Given the description of an element on the screen output the (x, y) to click on. 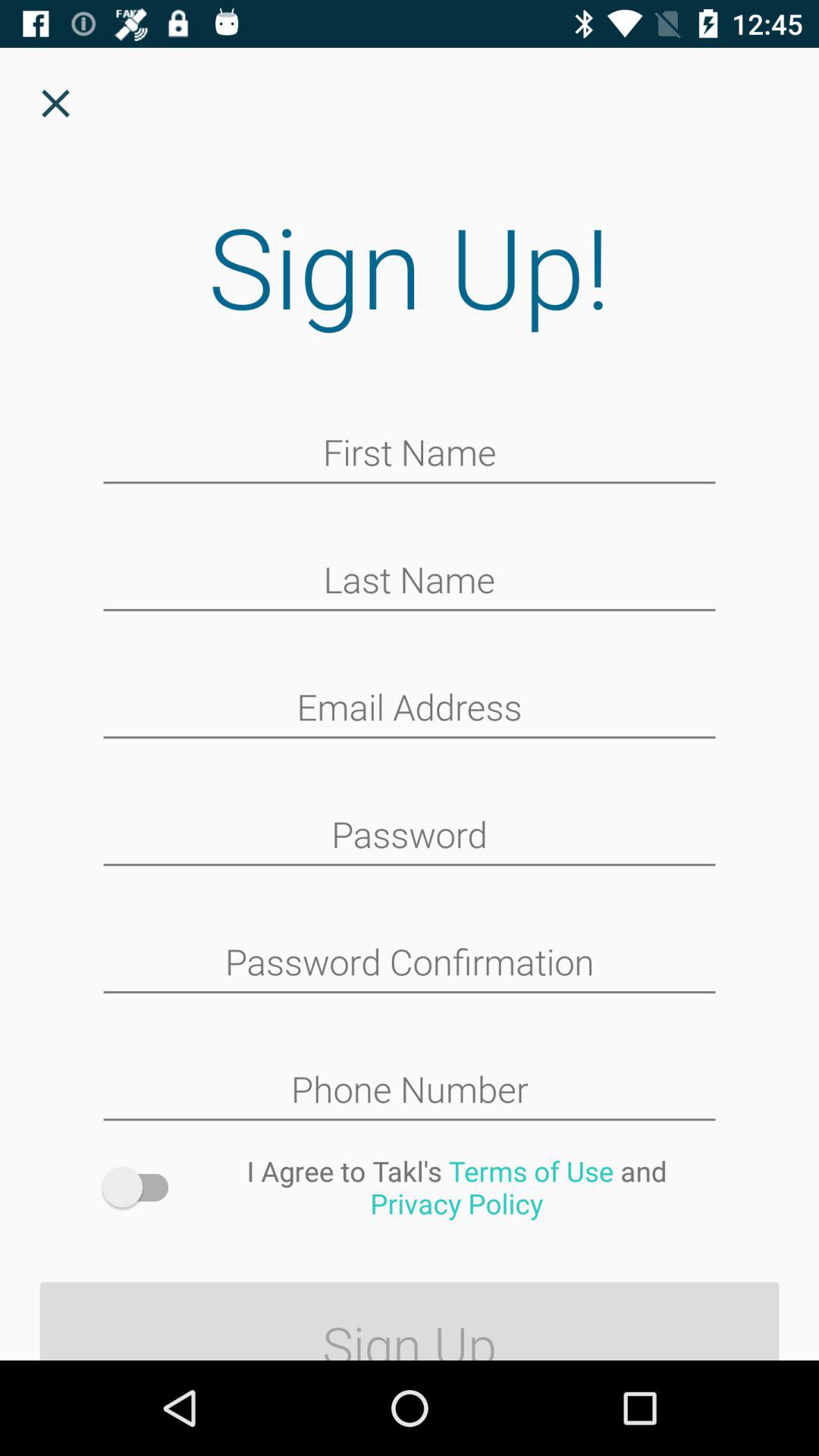
press icon above sign up (142, 1187)
